Given the description of an element on the screen output the (x, y) to click on. 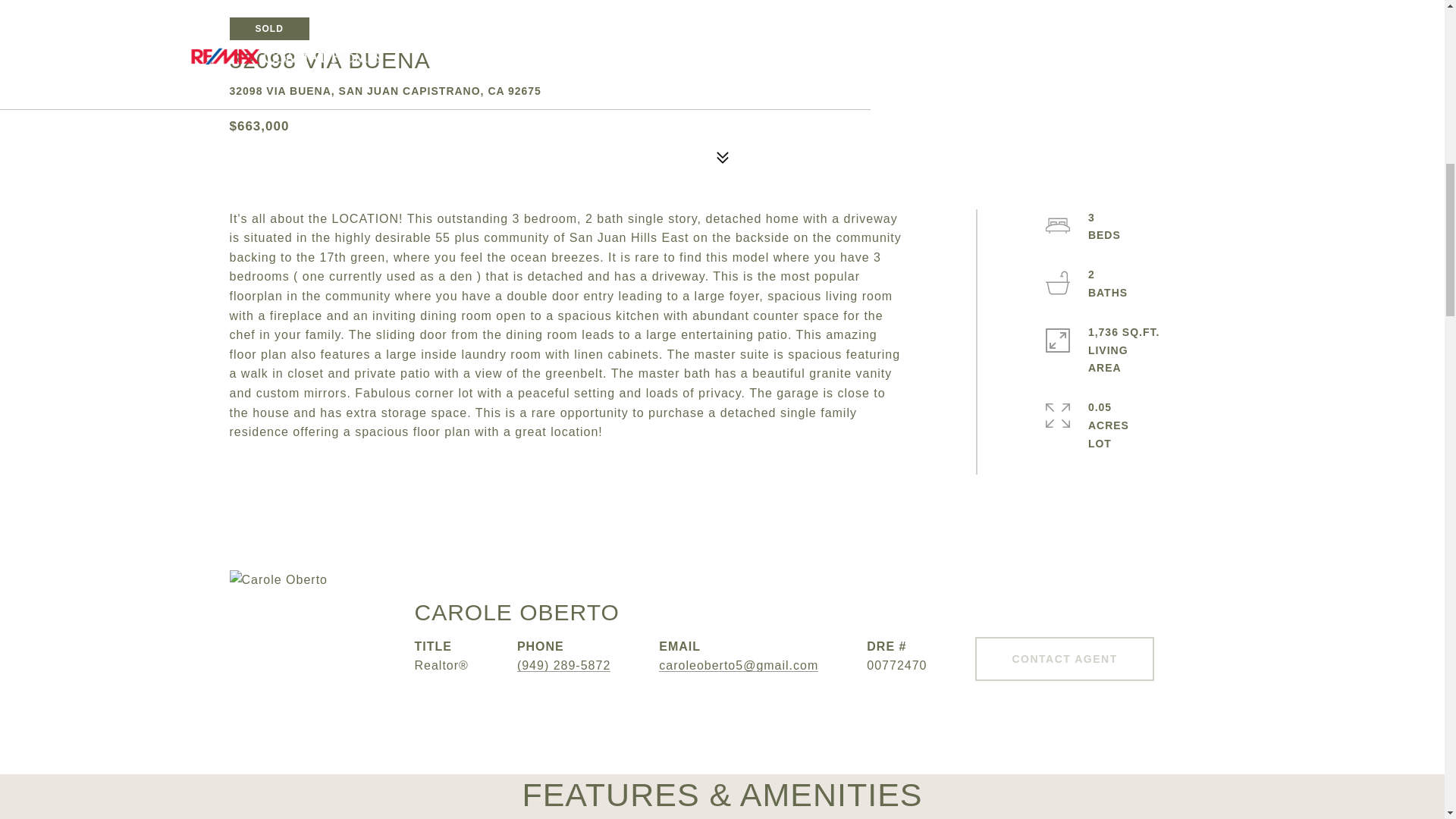
CONTACT AGENT (1064, 658)
